Given the description of an element on the screen output the (x, y) to click on. 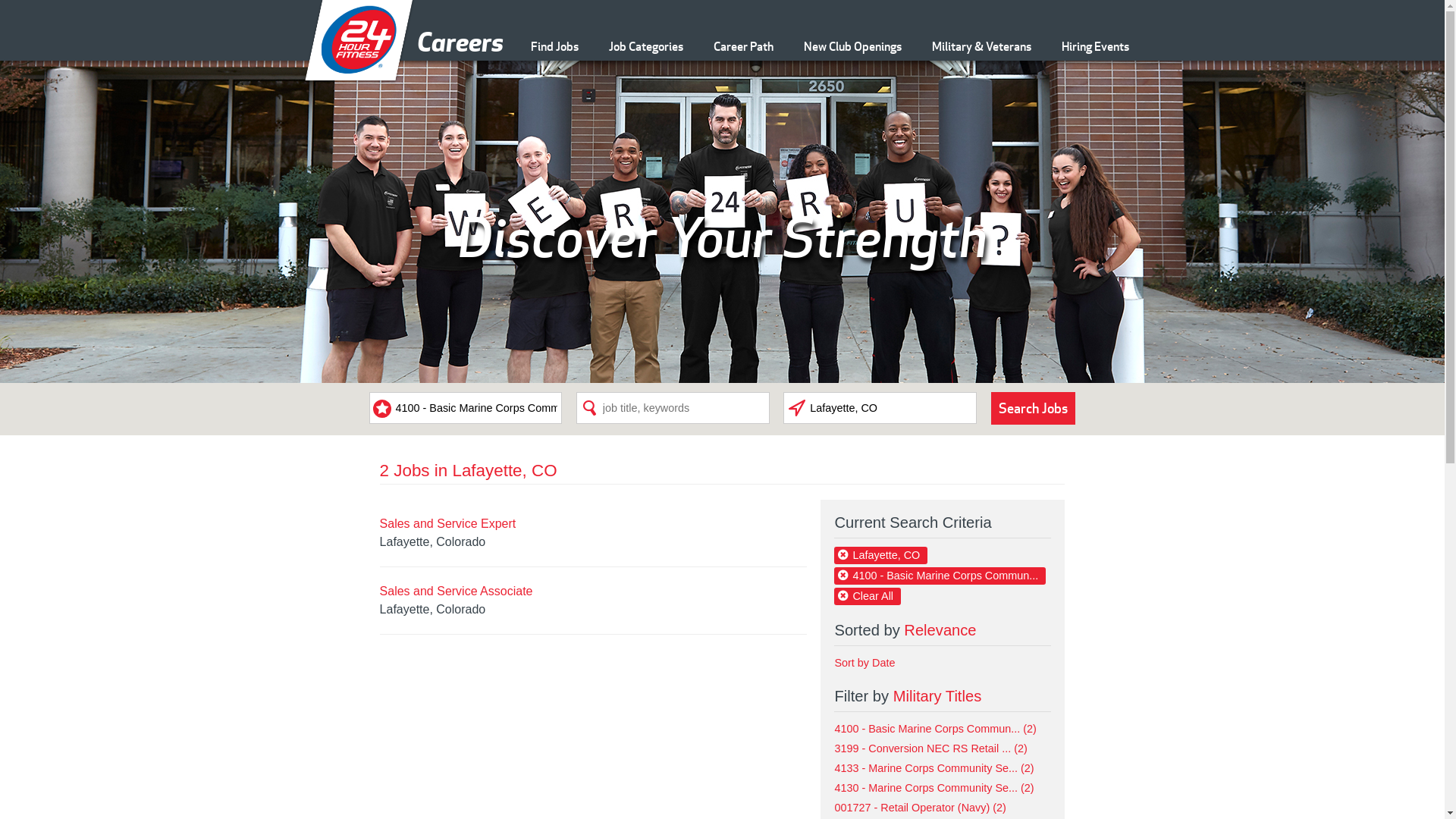
Search MOC Element type: hover (464, 407)
Lafayette, CO Element type: text (880, 555)
Search Jobs Element type: text (1033, 408)
001727 - Retail Operator (Navy) (2) Element type: text (919, 807)
Submit Search Element type: hover (1033, 408)
Job Categories Element type: text (645, 42)
4100 - Basic Marine Corps Commun... Element type: text (939, 575)
Career Path Element type: text (742, 42)
Military & Veterans Element type: text (980, 42)
4100 - Basic Marine Corps Commun... (2) Element type: text (934, 728)
Clear All Element type: text (867, 596)
Sales and Service Expert Element type: text (447, 523)
Sales and Service Associate Element type: text (456, 590)
Search Location Element type: hover (879, 407)
Find Jobs Element type: text (554, 42)
New Club Openings Element type: text (852, 42)
Hiring Events Element type: text (1095, 42)
Search Phrase Element type: hover (672, 407)
4130 - Marine Corps Community Se... (2) Element type: text (933, 787)
Sort by Date Element type: text (864, 662)
3199 - Conversion NEC RS Retail ... (2) Element type: text (930, 748)
Careers Element type: text (359, 81)
4133 - Marine Corps Community Se... (2) Element type: text (933, 768)
